Given the description of an element on the screen output the (x, y) to click on. 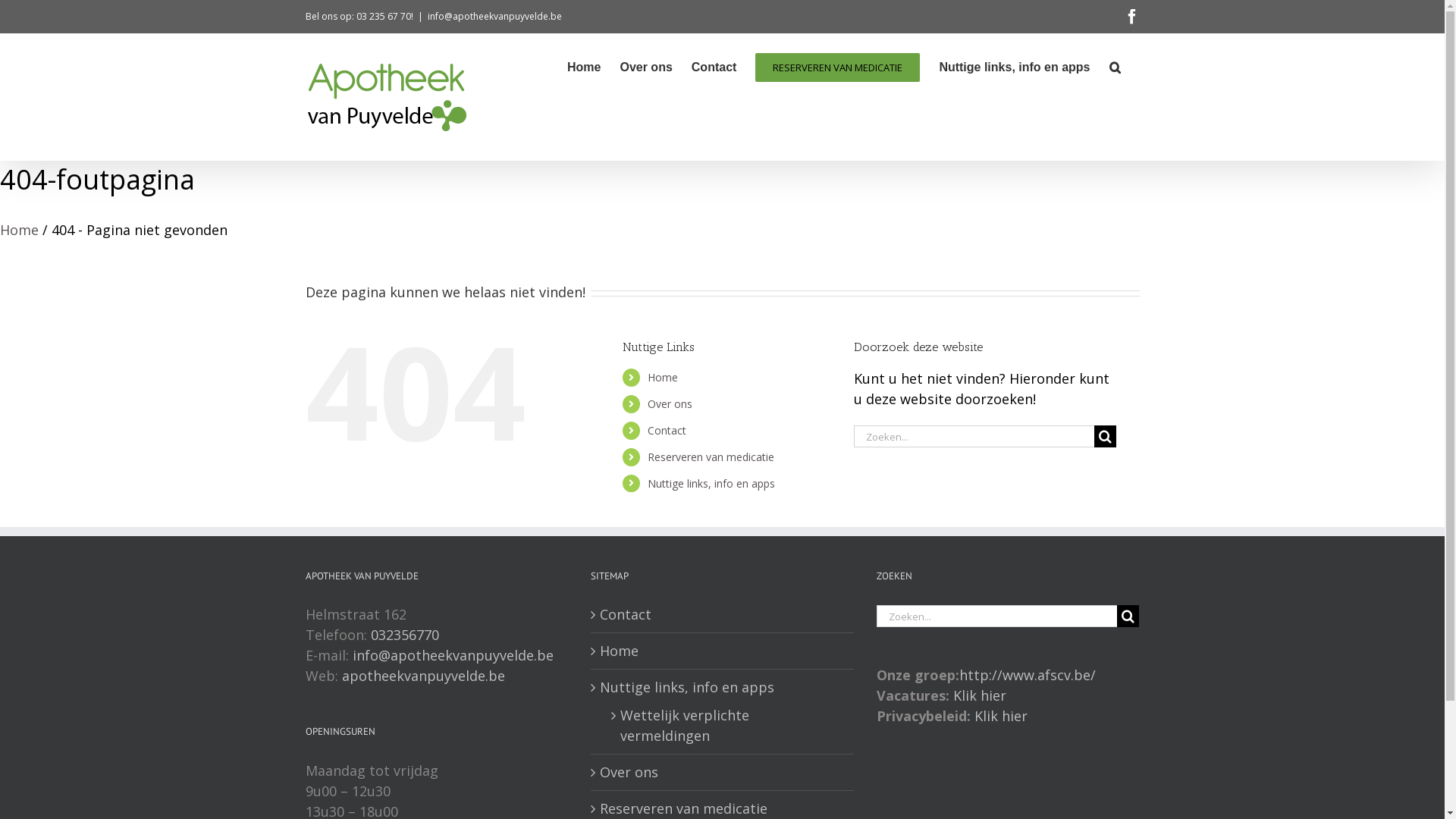
Reserveren van medicatie Element type: text (710, 456)
Home Element type: text (662, 377)
Contact Element type: text (722, 614)
Nuttige links, info en apps Element type: text (722, 687)
RESERVEREN VAN MEDICATIE Element type: text (837, 65)
Klik hier Element type: text (1000, 715)
Zoeken Element type: hover (1114, 65)
032356770 Element type: text (404, 634)
info@apotheekvanpuyvelde.be Element type: text (451, 655)
http://www.afscv.be/ Element type: text (1027, 674)
Over ons Element type: text (722, 772)
Wettelijk verplichte vermeldingen Element type: text (729, 725)
Over ons Element type: text (645, 65)
Contact Element type: text (666, 430)
info@apotheekvanpuyvelde.be Element type: text (494, 15)
Contact Element type: text (714, 65)
Home Element type: text (722, 650)
Home Element type: text (19, 229)
Facebook Element type: text (1131, 16)
Nuttige links, info en apps Element type: text (711, 483)
Home Element type: text (583, 65)
apotheekvanpuyvelde.be Element type: text (422, 675)
Over ons Element type: text (669, 403)
Klik hier Element type: text (979, 695)
Nuttige links, info en apps Element type: text (1013, 65)
